Given the description of an element on the screen output the (x, y) to click on. 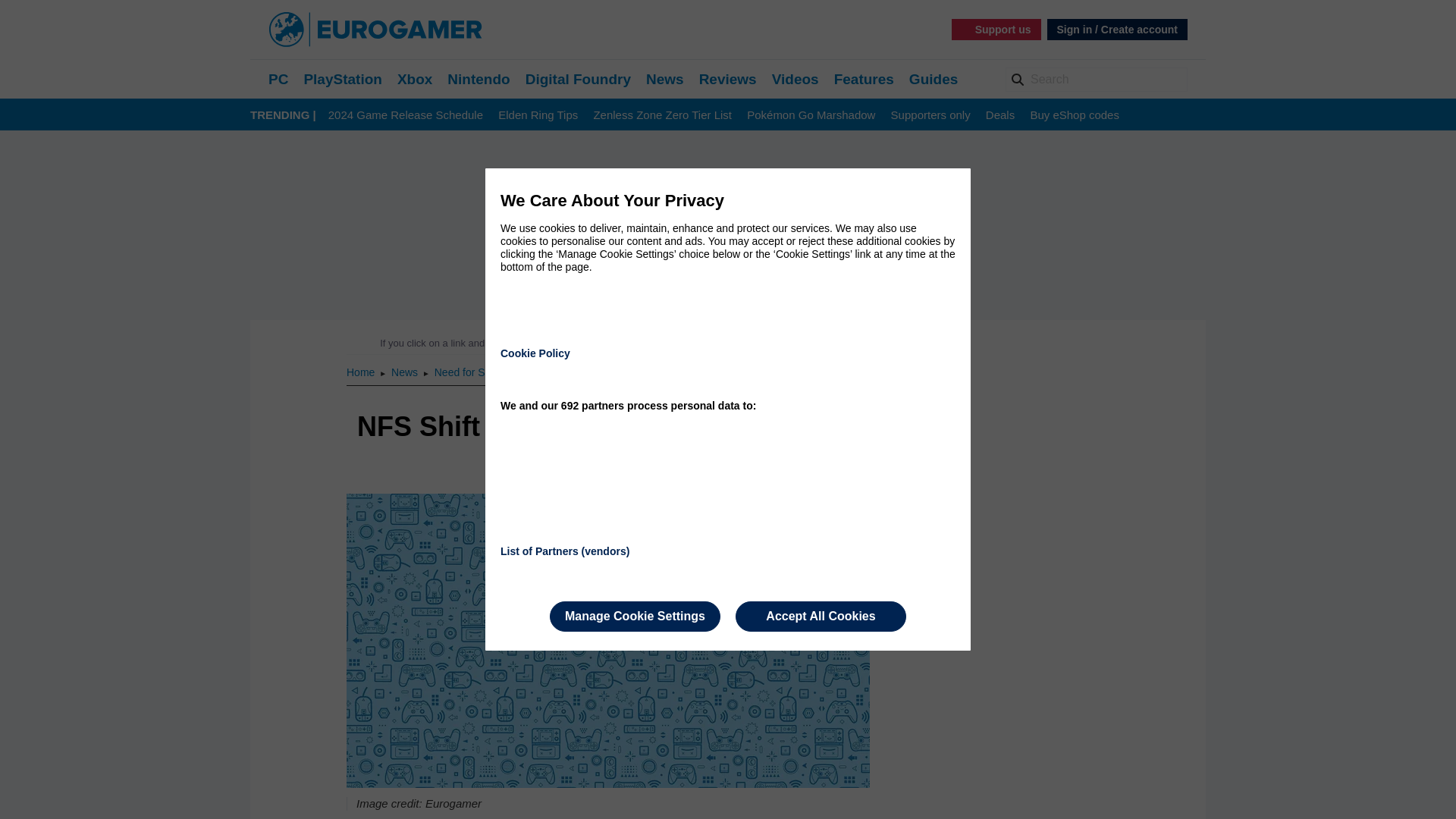
Need for Speed: SHIFT (488, 372)
PlayStation (341, 78)
Home (361, 372)
Digital Foundry (577, 78)
Xbox (414, 78)
2024 Game Release Schedule (406, 114)
Buy eShop codes (1074, 114)
Xbox (414, 78)
Digital Foundry (577, 78)
Home (361, 372)
Videos (794, 78)
Support us (996, 29)
Elden Ring Tips (537, 114)
News (665, 78)
News (405, 372)
